Given the description of an element on the screen output the (x, y) to click on. 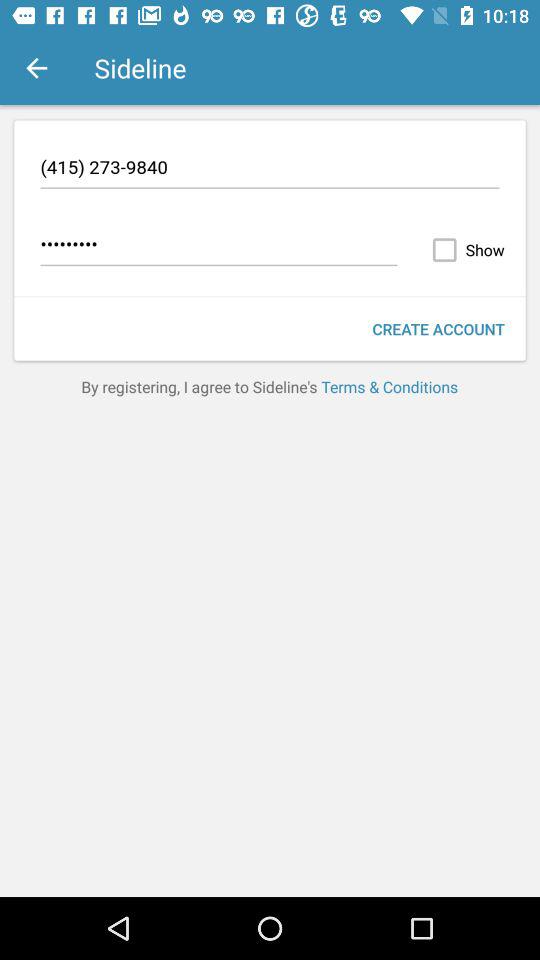
tap the icon on the right (438, 328)
